Given the description of an element on the screen output the (x, y) to click on. 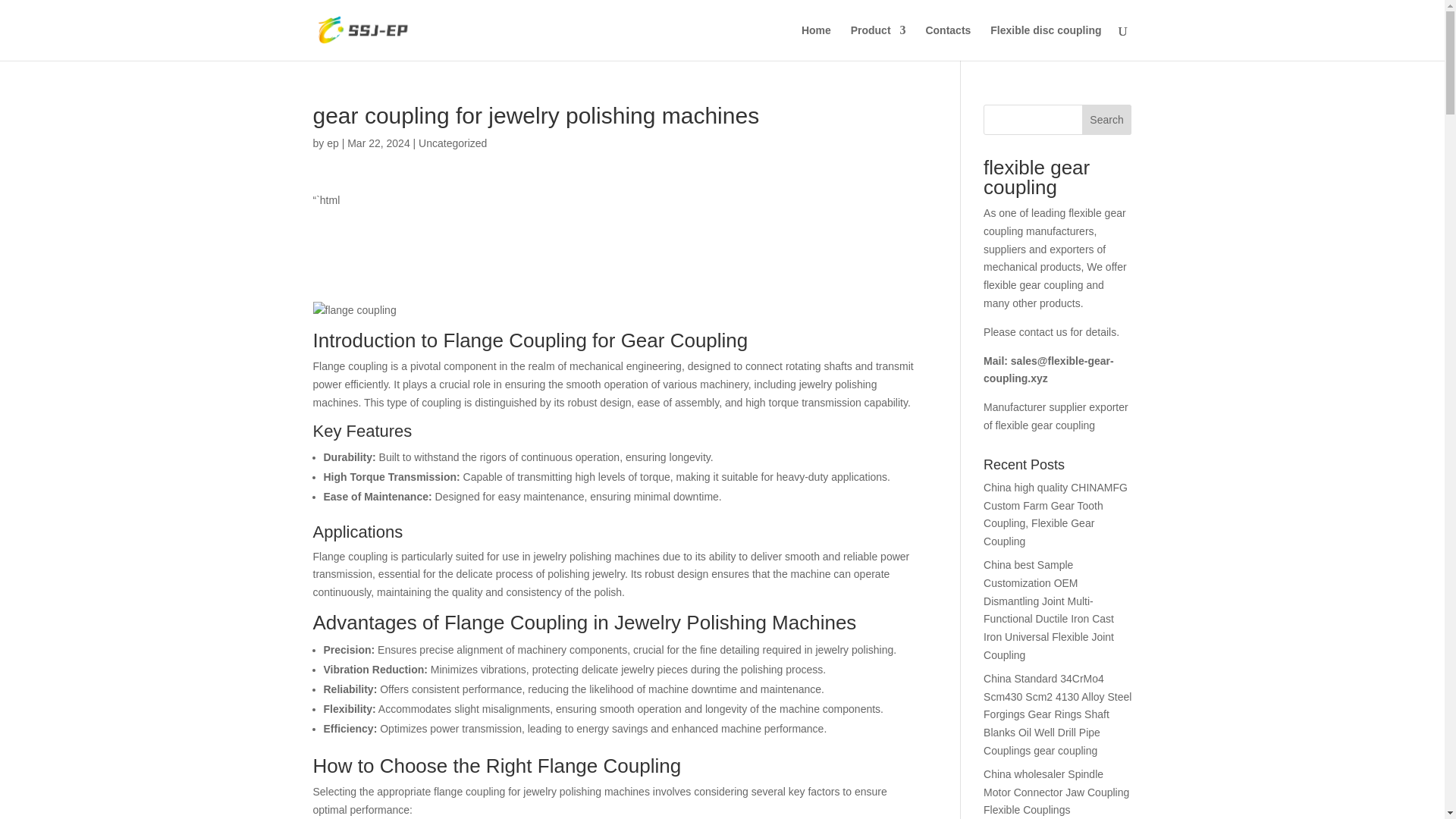
Product (877, 42)
Contacts (947, 42)
ep (332, 143)
Search (1106, 119)
Flexible disc coupling (1045, 42)
Posts by ep (332, 143)
Search (1106, 119)
